Given the description of an element on the screen output the (x, y) to click on. 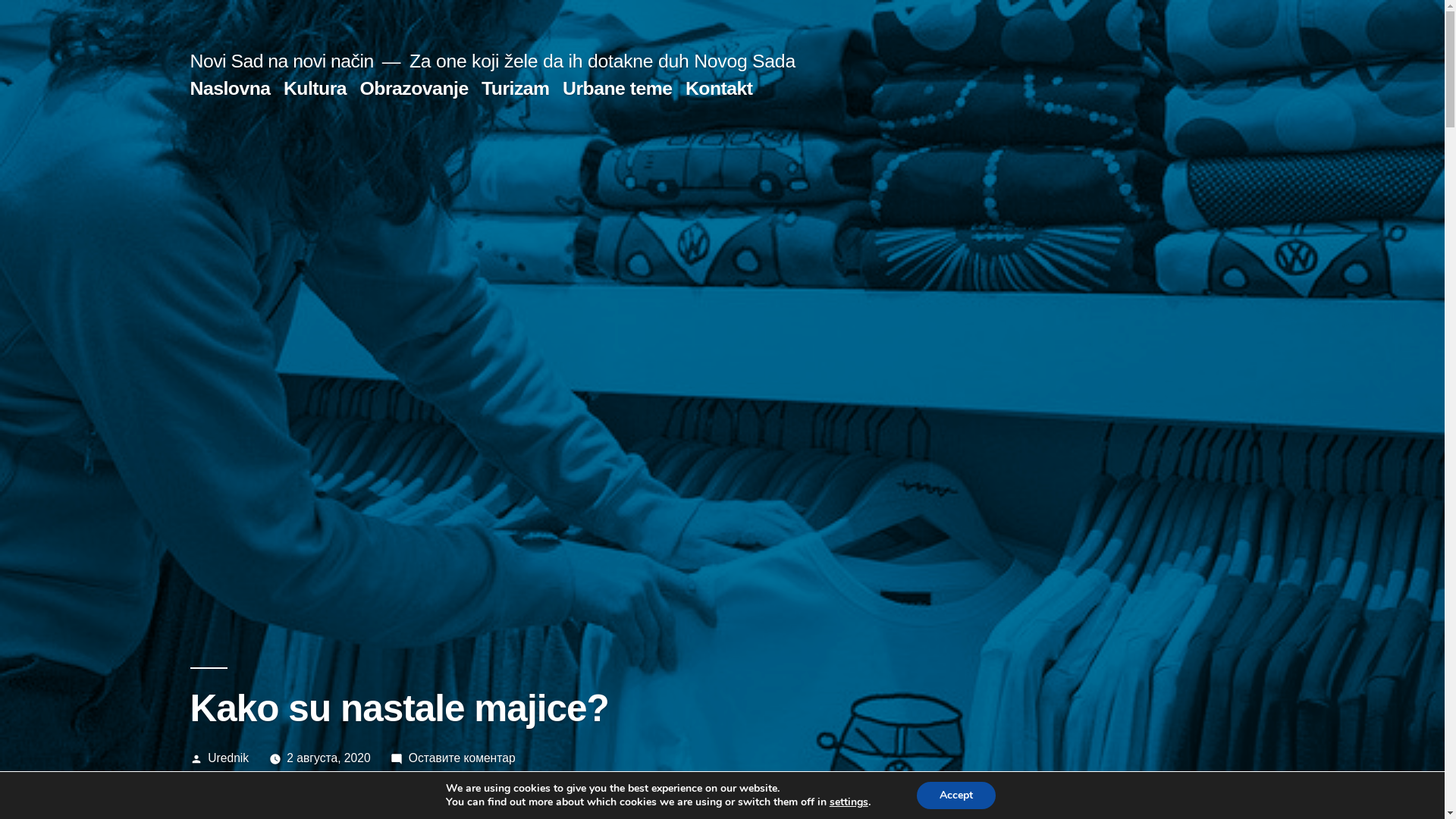
Kontakt Element type: text (719, 88)
Accept Element type: text (955, 795)
Turizam Element type: text (515, 88)
Kultura Element type: text (314, 88)
Naslovna Element type: text (229, 88)
Urbane teme Element type: text (616, 88)
Urednik Element type: text (227, 757)
Obrazovanje Element type: text (414, 88)
